Given the description of an element on the screen output the (x, y) to click on. 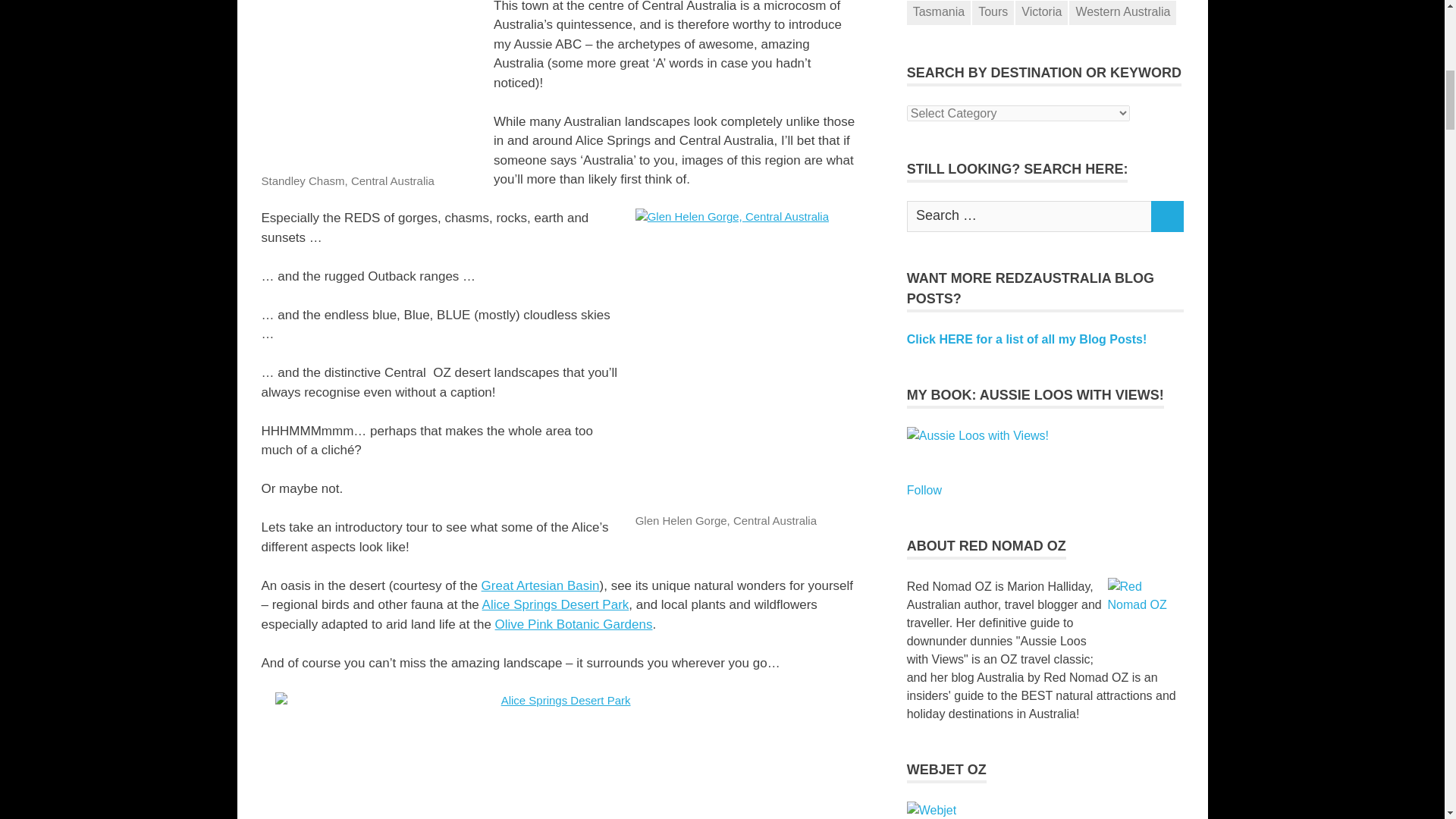
Alice Springs Desert Park (554, 604)
Great Artesian Basin (540, 585)
Olive Pink Botanic Gardens (573, 624)
Search for: (1029, 215)
